Given the description of an element on the screen output the (x, y) to click on. 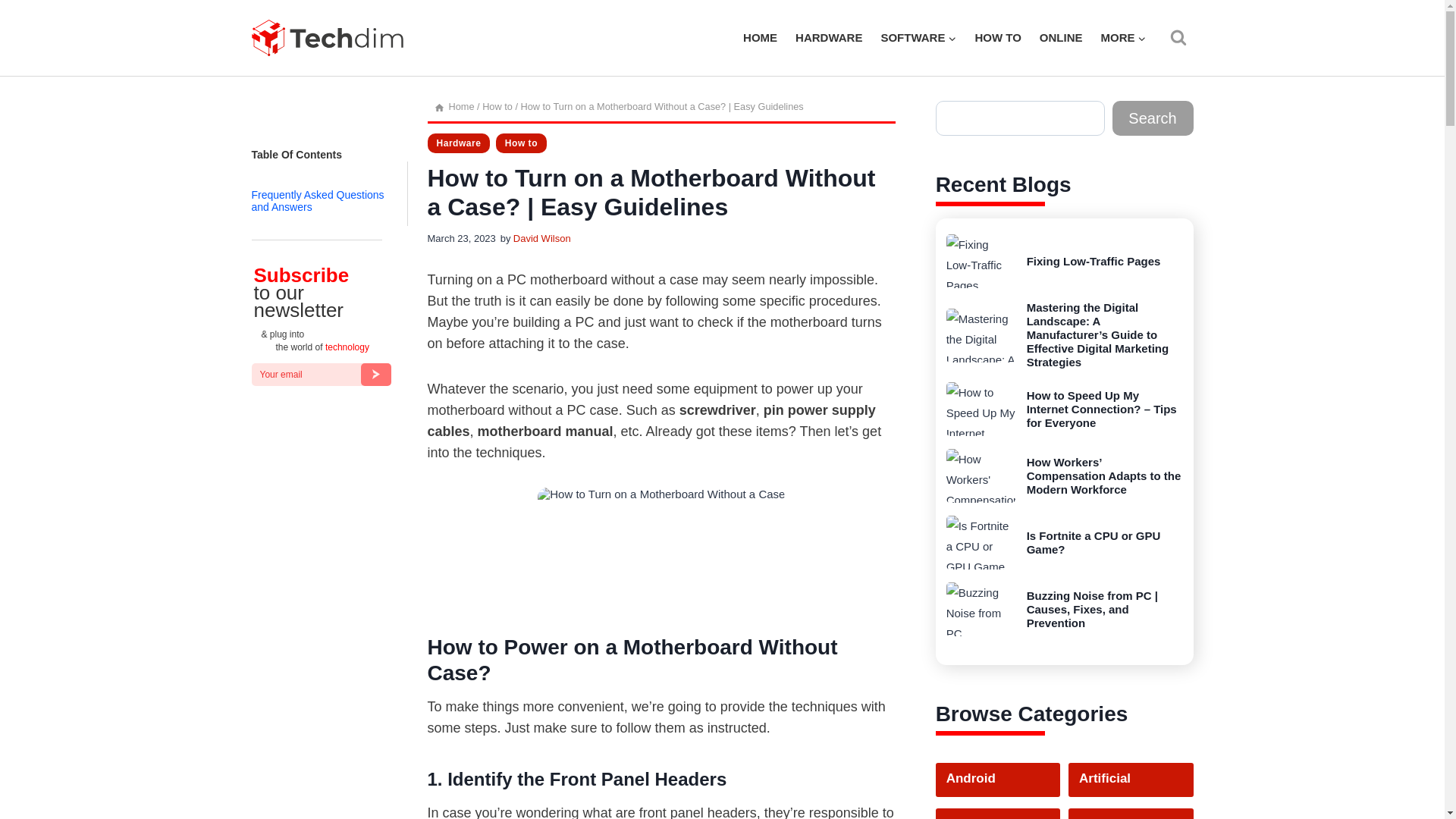
Frequently Asked Questions and Answers (317, 200)
Home (461, 106)
Subscribe (376, 374)
How to (496, 106)
David Wilson (541, 238)
HARDWARE (828, 37)
Subscribe (376, 374)
How to (521, 143)
Hardware (459, 143)
HOME (759, 37)
ONLINE (1061, 37)
SOFTWARE (917, 37)
MORE (1124, 37)
HOW TO (997, 37)
